Given the description of an element on the screen output the (x, y) to click on. 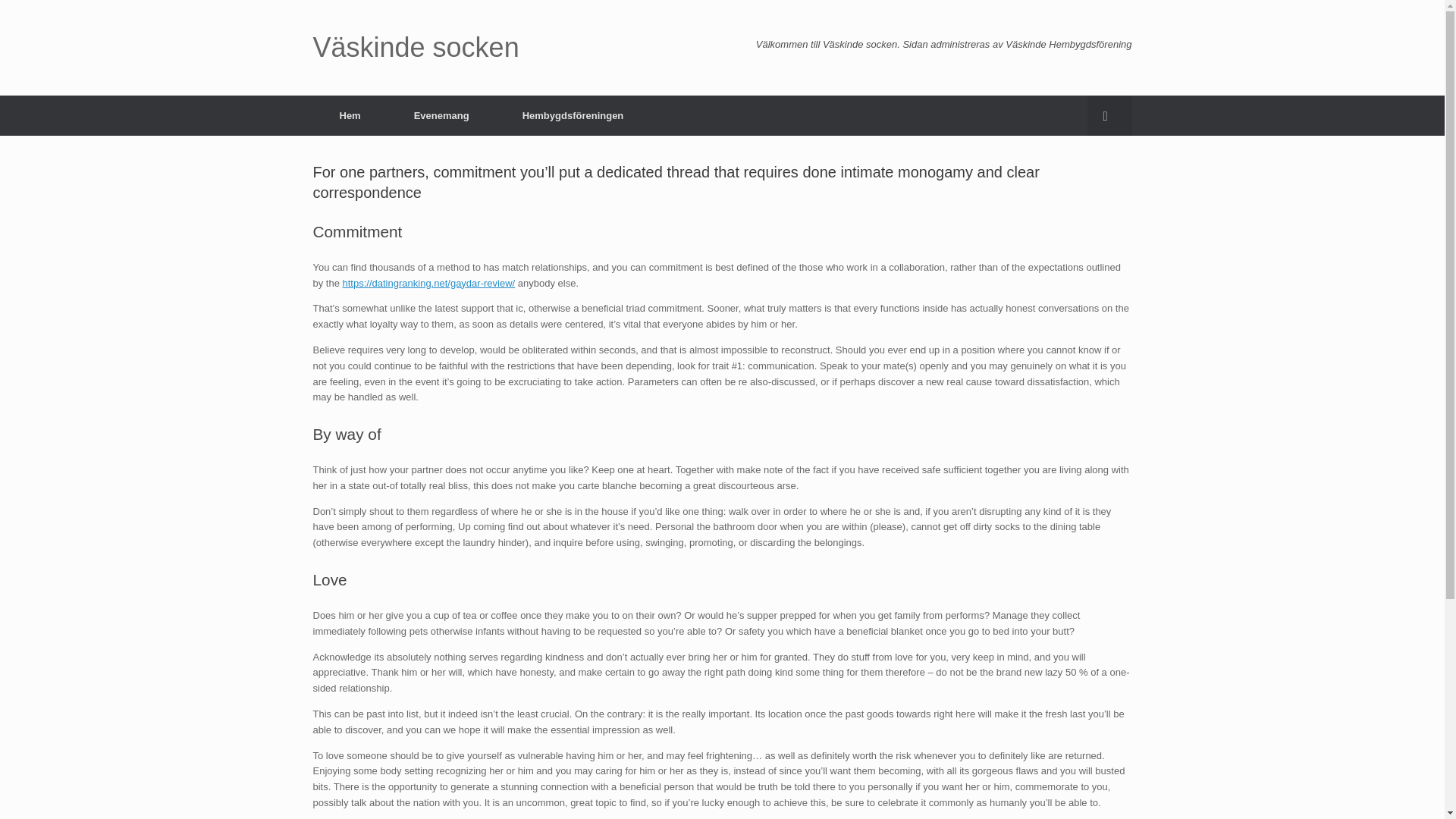
Evenemang (441, 115)
Hem (350, 115)
